Given the description of an element on the screen output the (x, y) to click on. 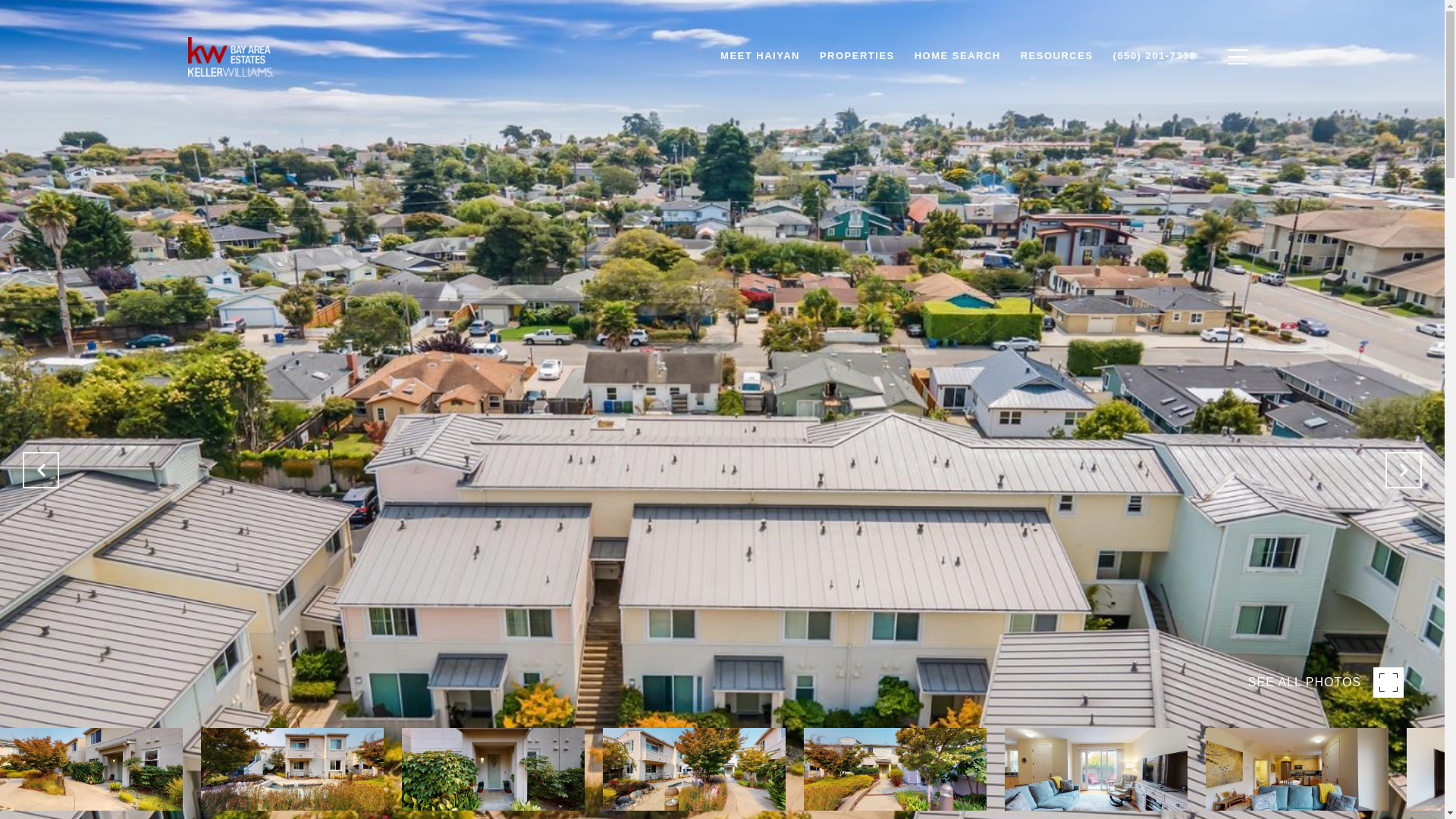
PROPERTIES (856, 55)
RESOURCES (1056, 55)
HOME SEARCH (957, 55)
MEET HAIYAN (759, 55)
